Given the description of an element on the screen output the (x, y) to click on. 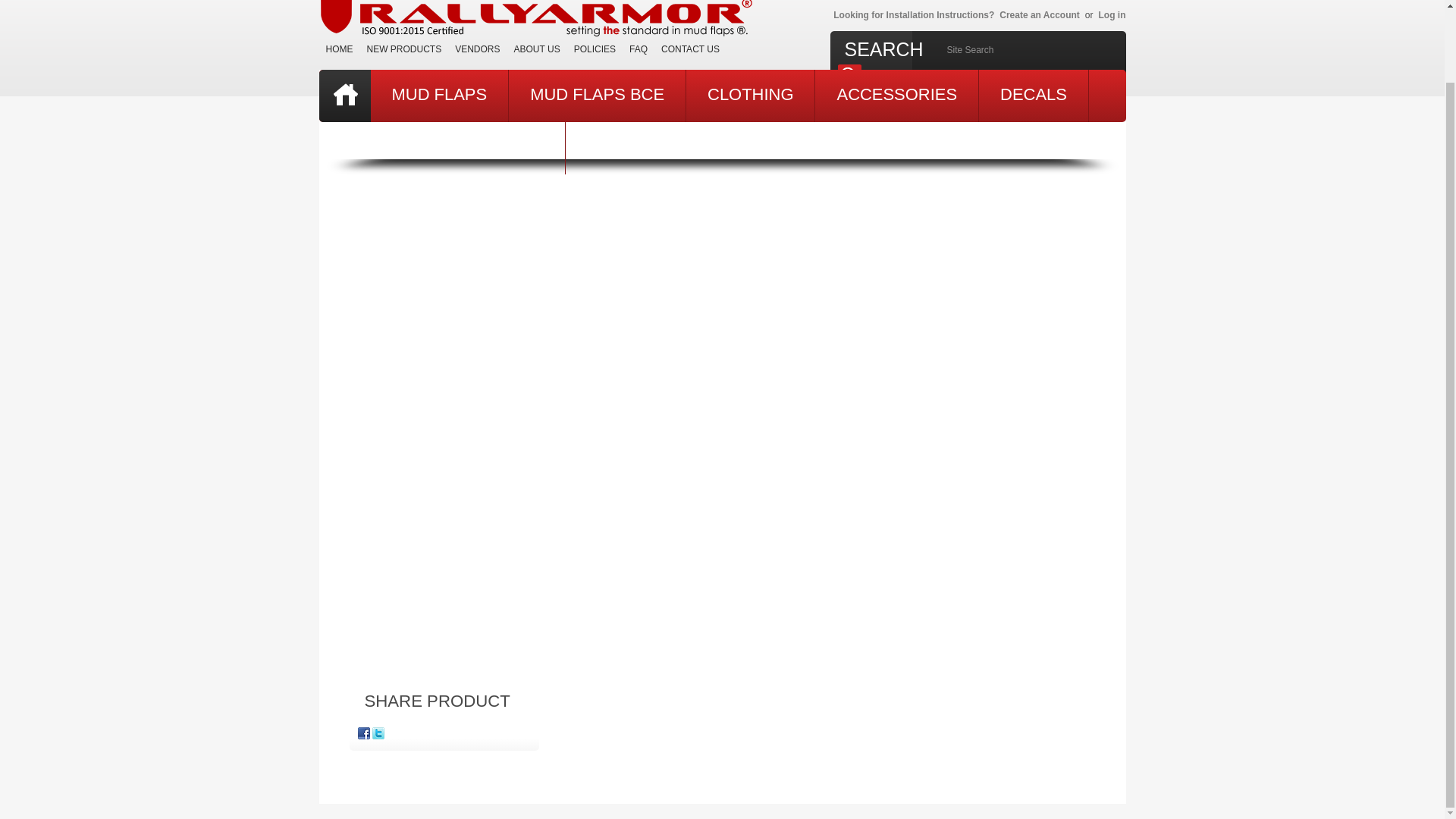
ABOUT US (536, 48)
Log in (1112, 14)
Rally Armor (538, 22)
MUD FLAPS (438, 95)
HOME (338, 48)
VENDORS (477, 48)
Create an Account (1039, 14)
FAQ (638, 48)
Looking for Installation Instructions? (911, 14)
CONTACT US (689, 48)
